Given the description of an element on the screen output the (x, y) to click on. 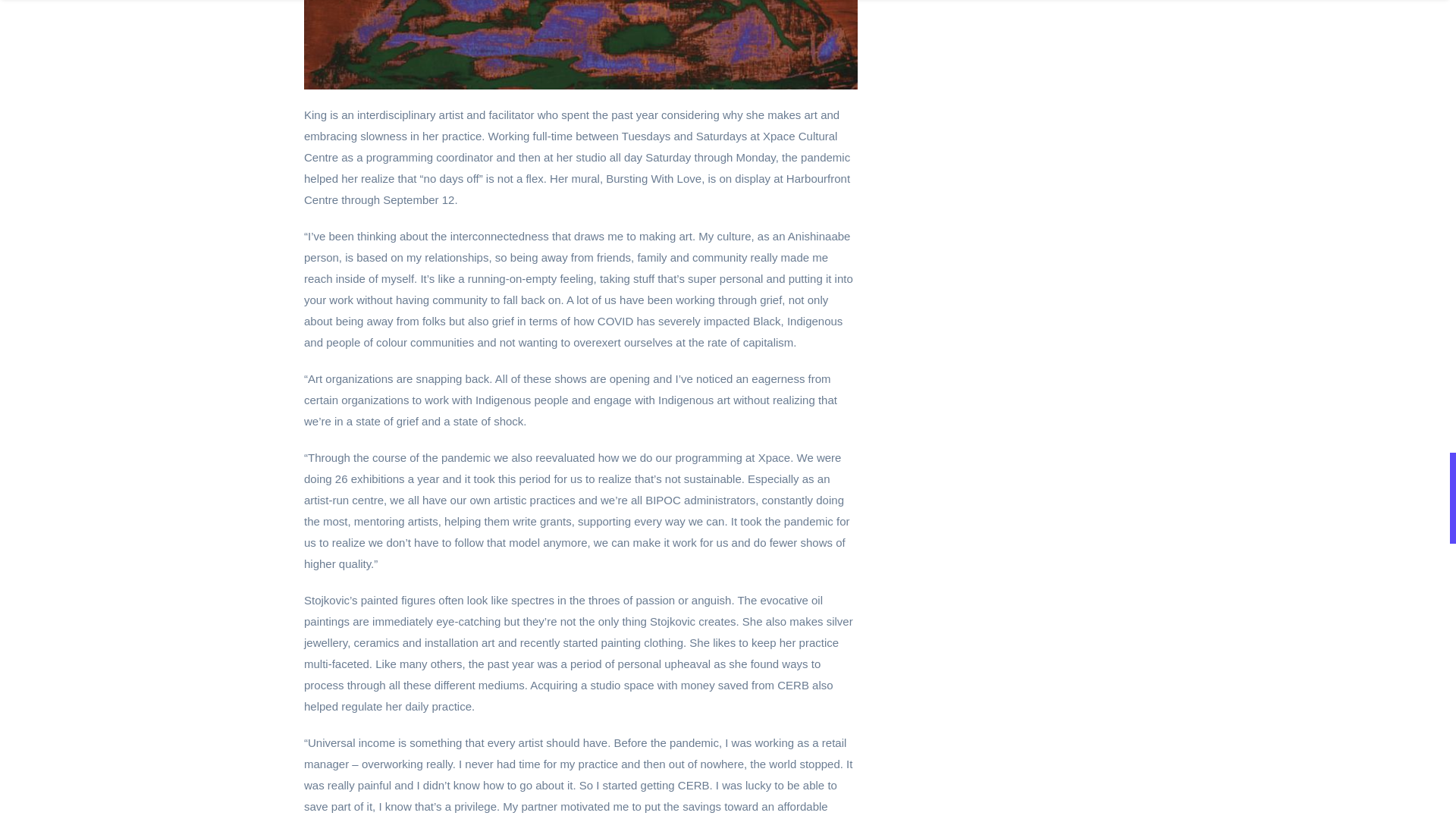
10 Toronto visual artists to watch in 2021 (580, 44)
